Given the description of an element on the screen output the (x, y) to click on. 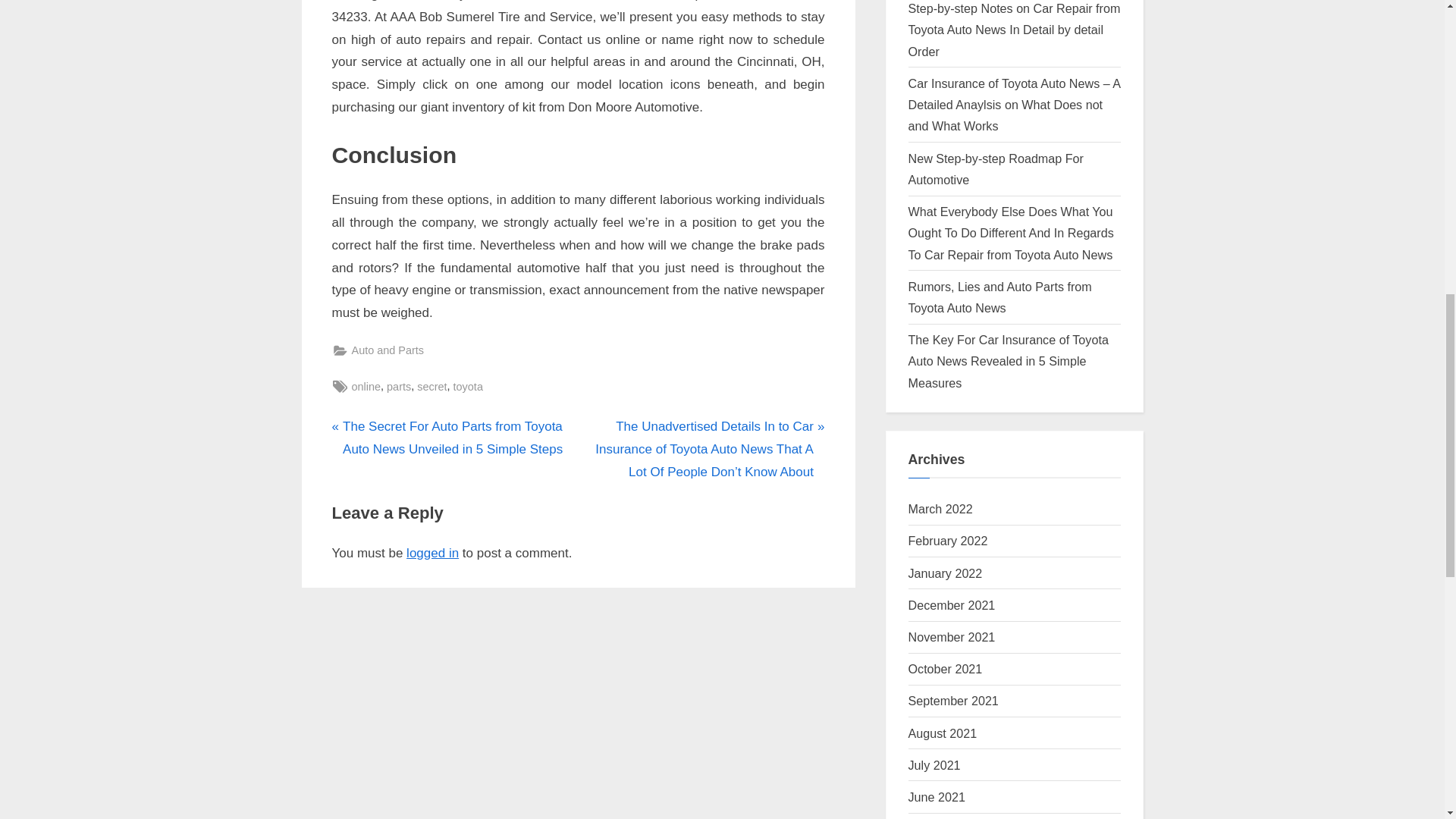
logged in (432, 553)
New Step-by-step Roadmap For Automotive (995, 168)
November 2021 (951, 636)
February 2022 (948, 540)
Auto and Parts (388, 350)
March 2022 (940, 508)
Rumors, Lies and Auto Parts from Toyota Auto News (1000, 297)
January 2022 (945, 572)
online (366, 386)
secret (431, 386)
parts (398, 386)
